Given the description of an element on the screen output the (x, y) to click on. 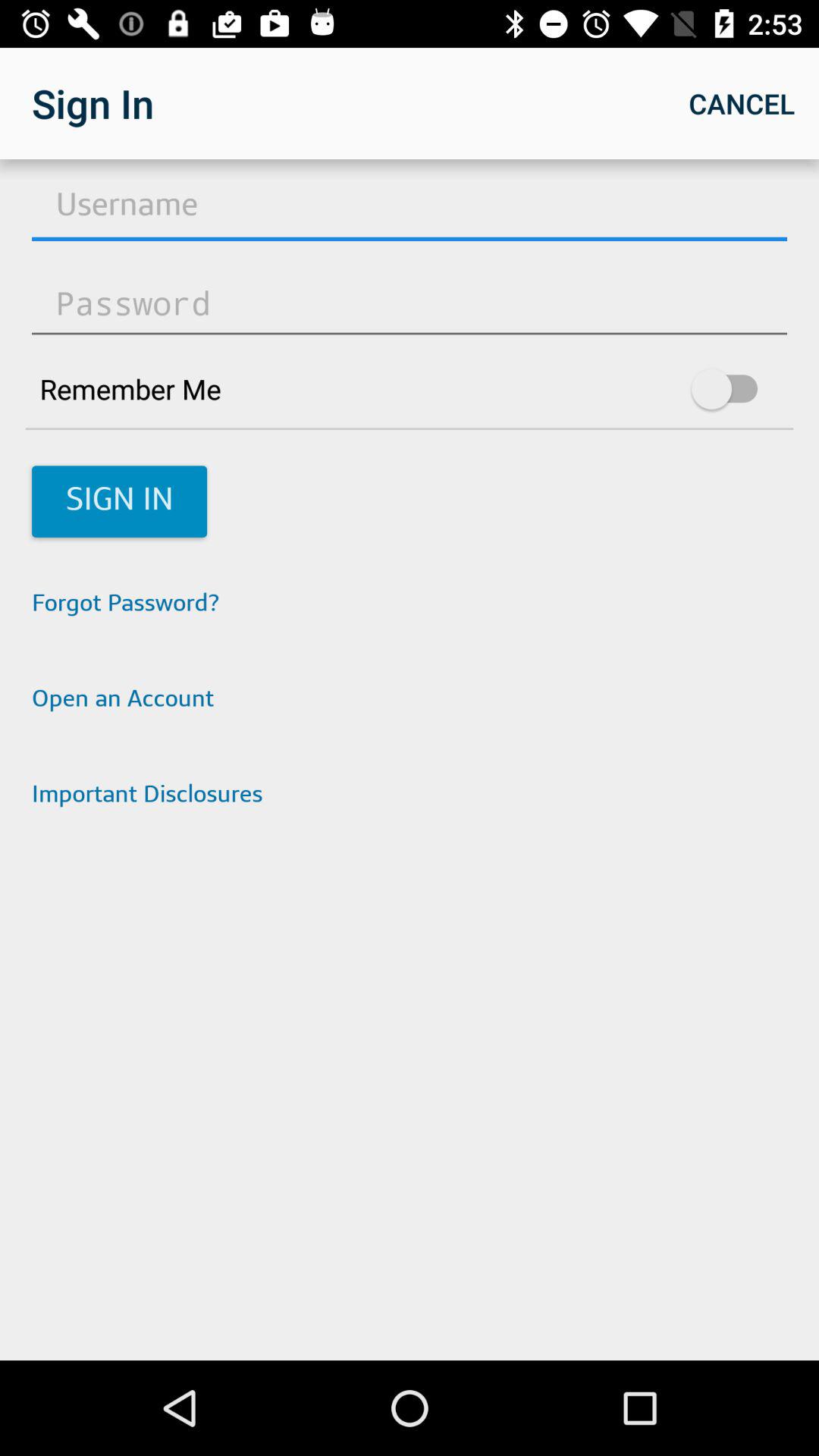
select the open an account app (409, 700)
